Given the description of an element on the screen output the (x, y) to click on. 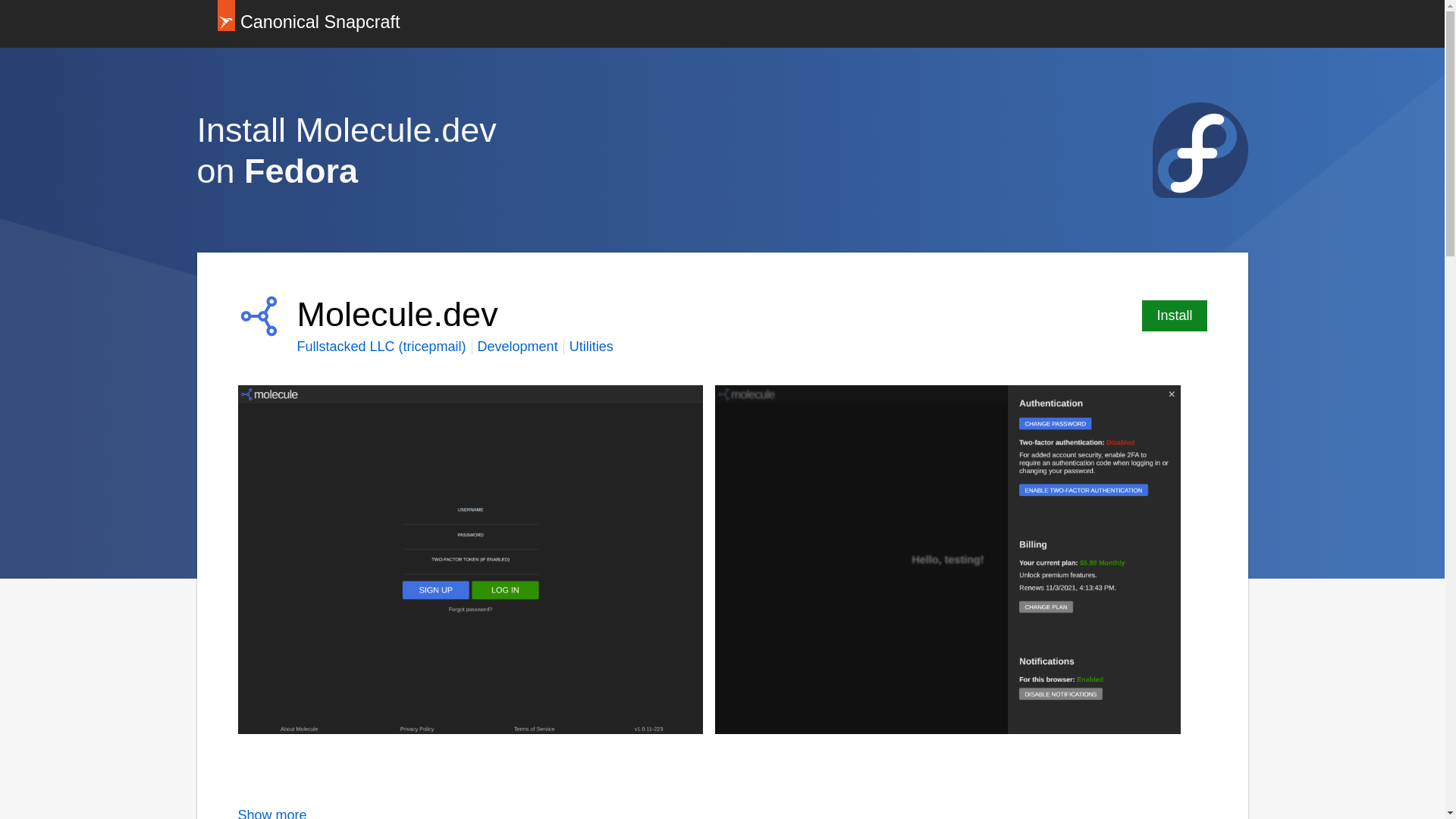
Utilities (590, 346)
Show more (272, 813)
Development (517, 346)
Install (1174, 315)
Canonical Snapcraft (307, 23)
